Given the description of an element on the screen output the (x, y) to click on. 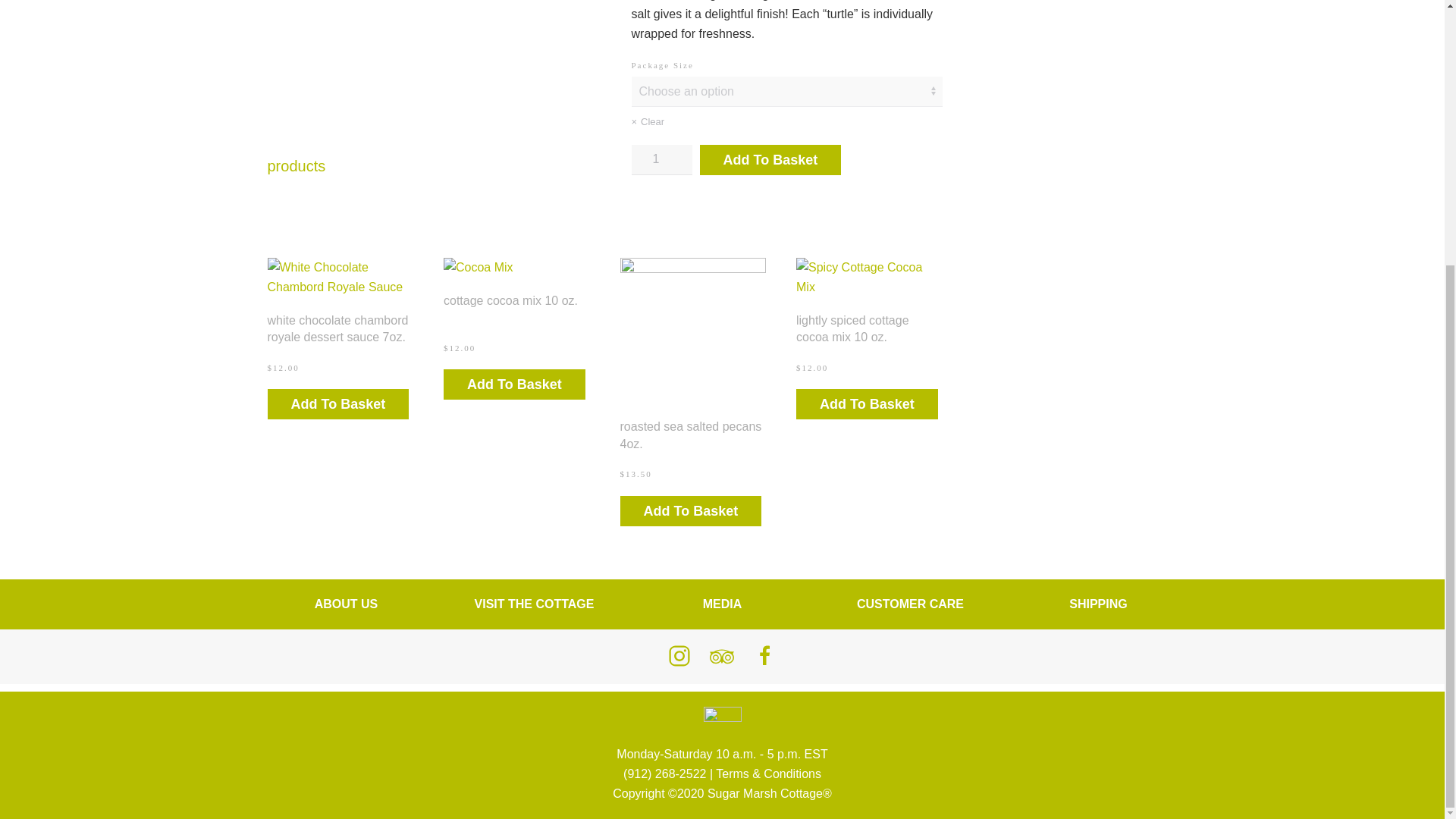
Add To Basket (337, 404)
1 (660, 159)
Clear (786, 121)
Add To Basket (769, 159)
